Given the description of an element on the screen output the (x, y) to click on. 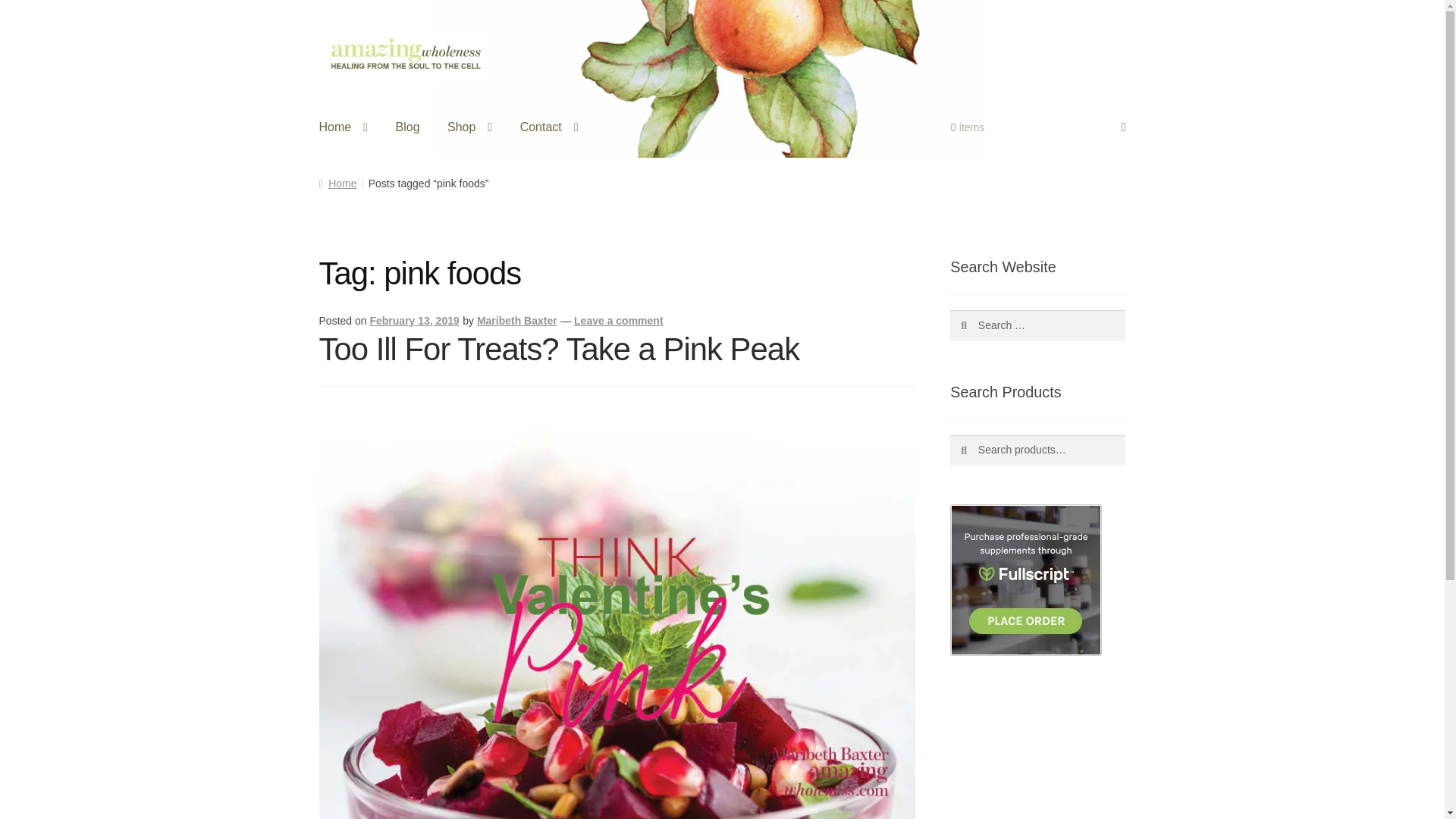
Home (343, 128)
View your shopping cart (1037, 128)
Shop (469, 128)
Contact (549, 128)
